Given the description of an element on the screen output the (x, y) to click on. 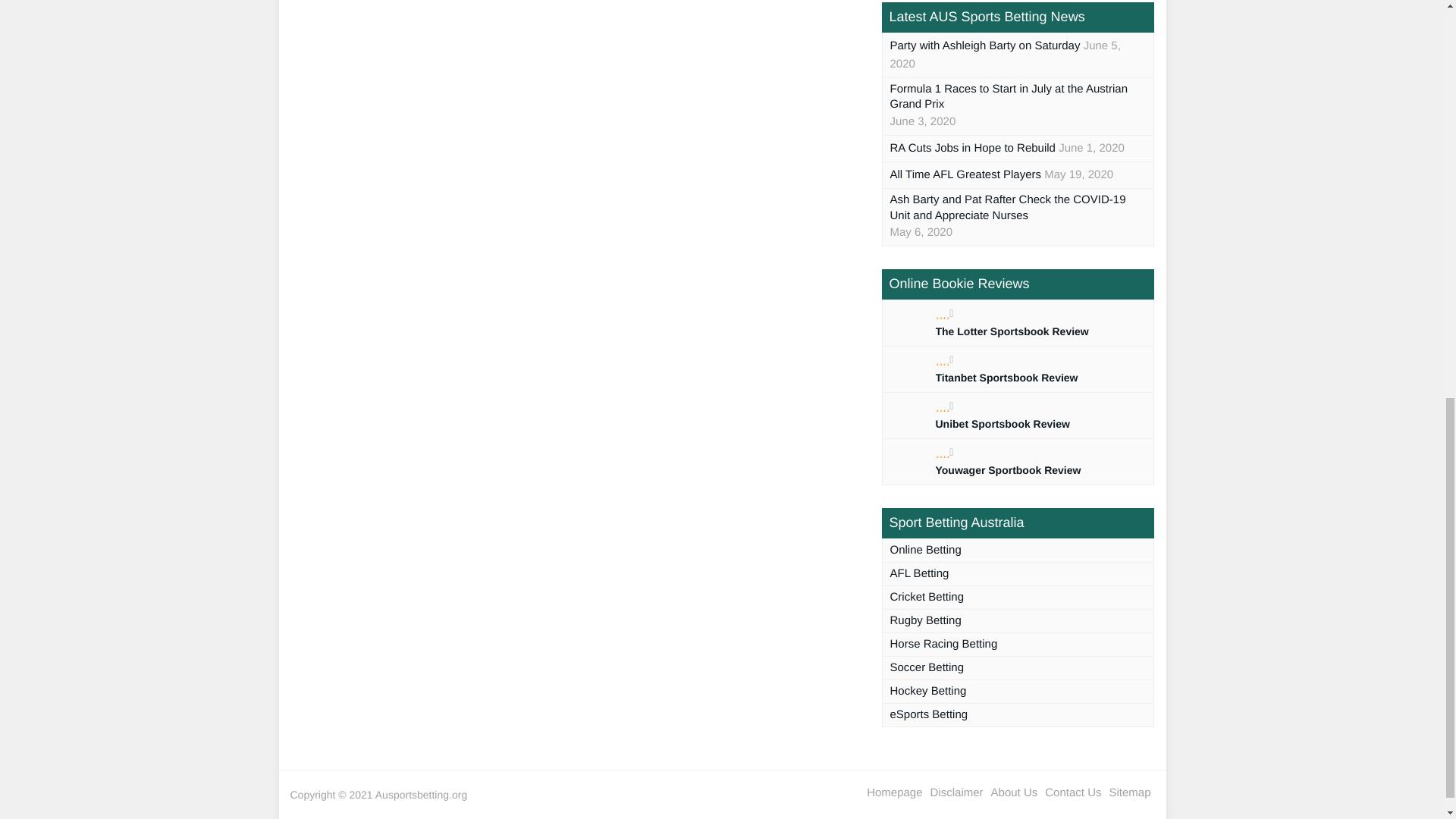
4 out of 5 stars from 140 Reviews (944, 451)
4 out of 5 stars from 130 Reviews (944, 313)
4 out of 5 stars from 240 Reviews (944, 405)
4 out of 5 stars from 160 Reviews (944, 358)
